Given the description of an element on the screen output the (x, y) to click on. 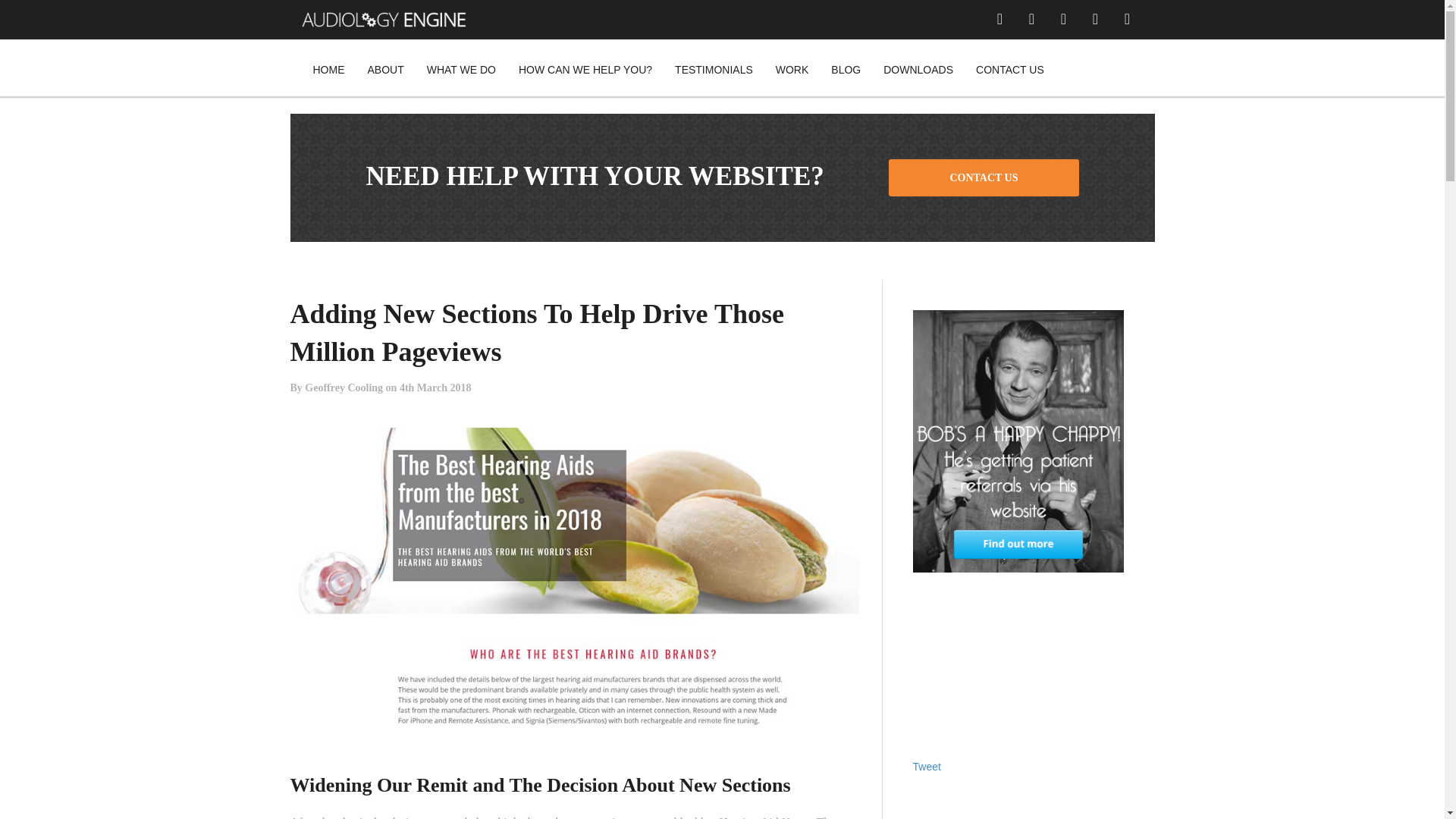
HOW CAN WE HELP YOU? (584, 67)
Subscribe (561, 746)
BLOG (845, 67)
CONTACT US (1009, 67)
Tweet (926, 766)
DOWNLOADS (917, 67)
Unitron Engage 2016 (335, 644)
HOME (328, 67)
TESTIMONIALS (713, 67)
ABOUT (385, 67)
Subscribe (561, 746)
WHAT WE DO (460, 67)
CONTACT US (983, 177)
Using Outcomes on Audiology Websites (376, 704)
Audiology SEO Book Launched (358, 674)
